Given the description of an element on the screen output the (x, y) to click on. 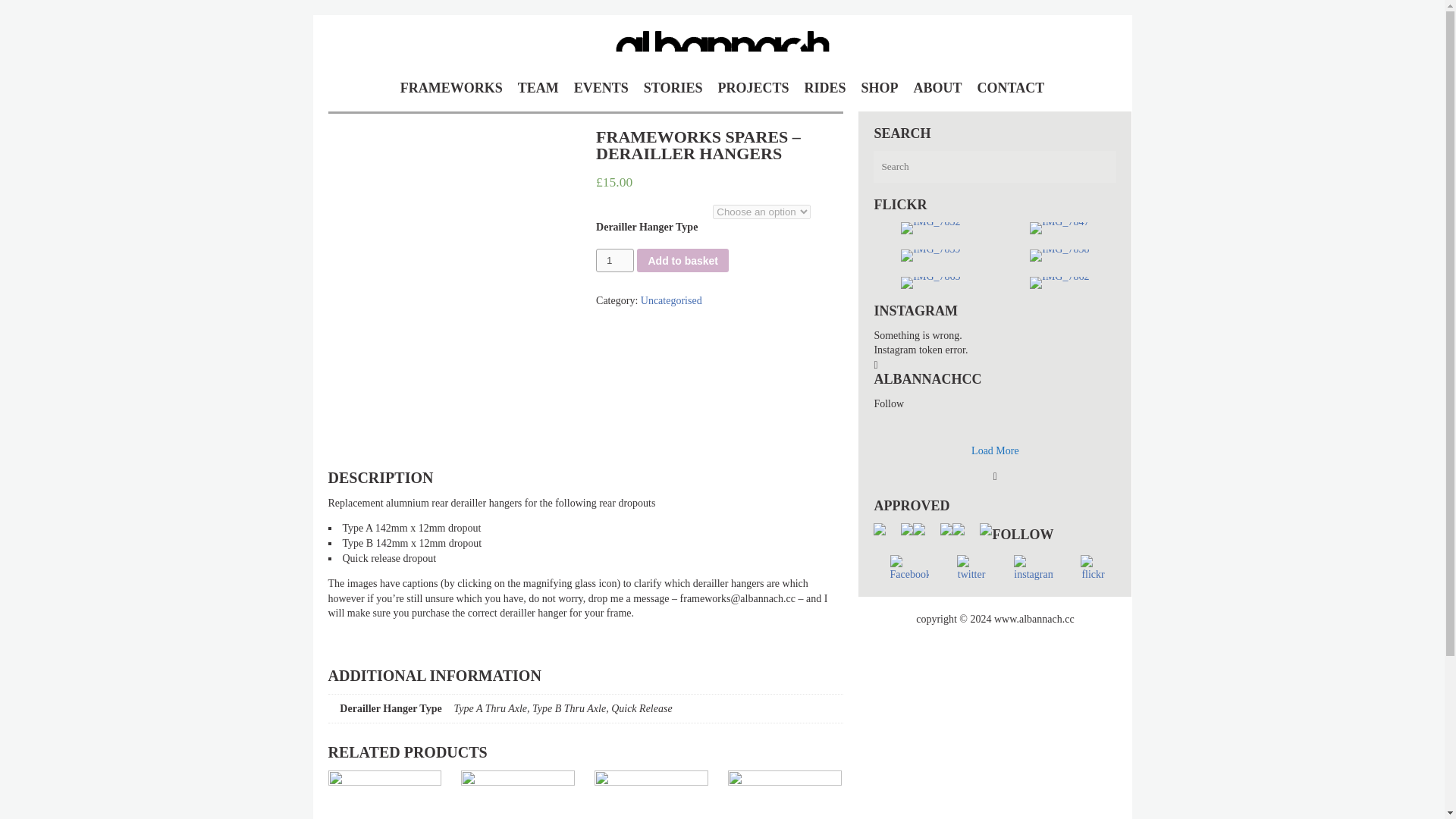
FRAMEWORKS (451, 84)
Follow us on Facebook (908, 568)
1 (614, 259)
Follow us on Instagram (1033, 568)
TEAM (538, 84)
Add to basket (683, 259)
Show Menu (11, 8)
CONTACT (1010, 84)
EVENTS (600, 84)
RIDES (825, 84)
